Given the description of an element on the screen output the (x, y) to click on. 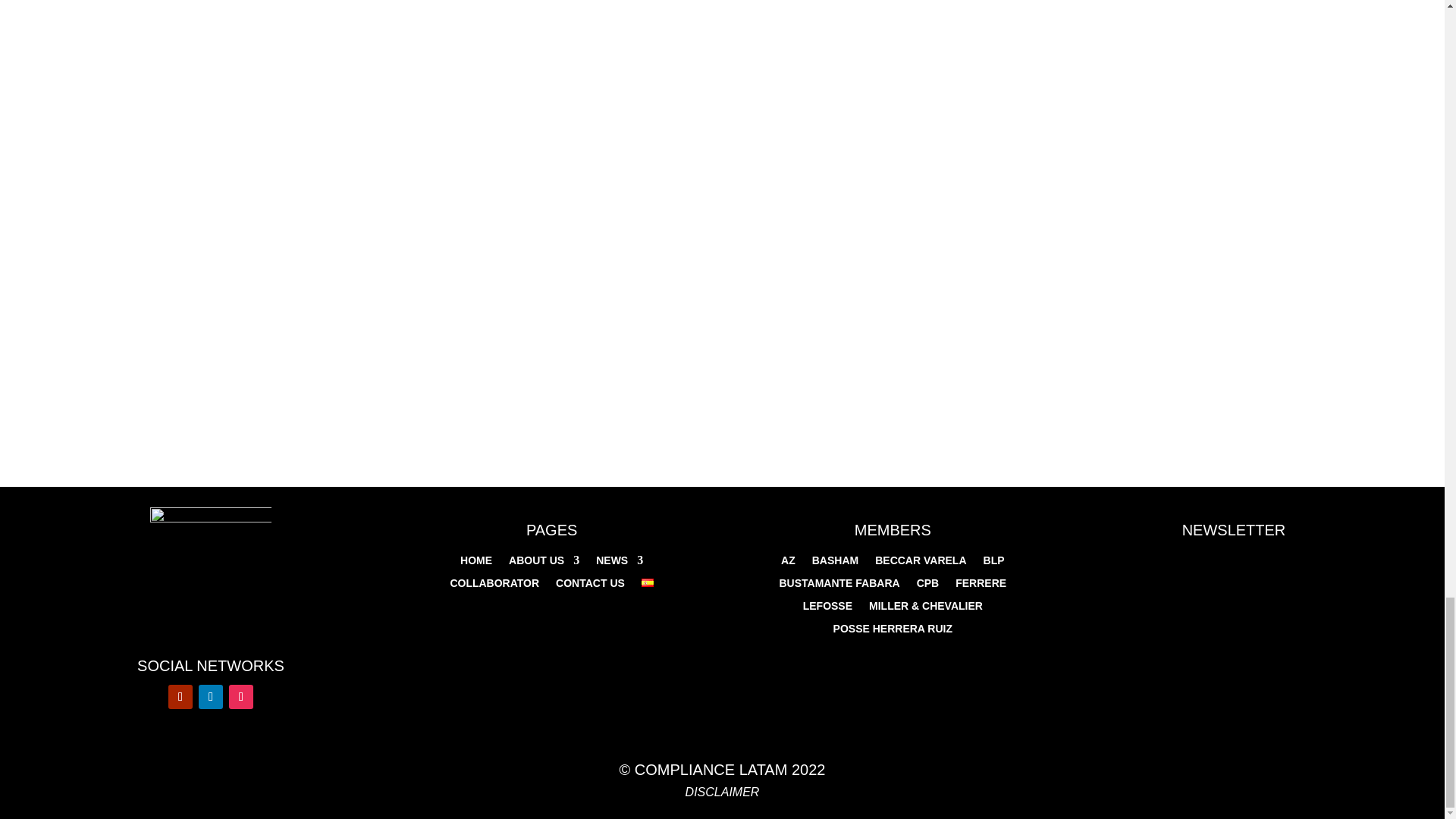
HOME (476, 563)
ABOUT US (543, 563)
COLLABORATOR (493, 586)
Follow on Youtube (180, 696)
Follow on LinkedIn (210, 696)
NEWS (619, 563)
CONTACT US (590, 586)
Follow on Instagram (240, 696)
